Given the description of an element on the screen output the (x, y) to click on. 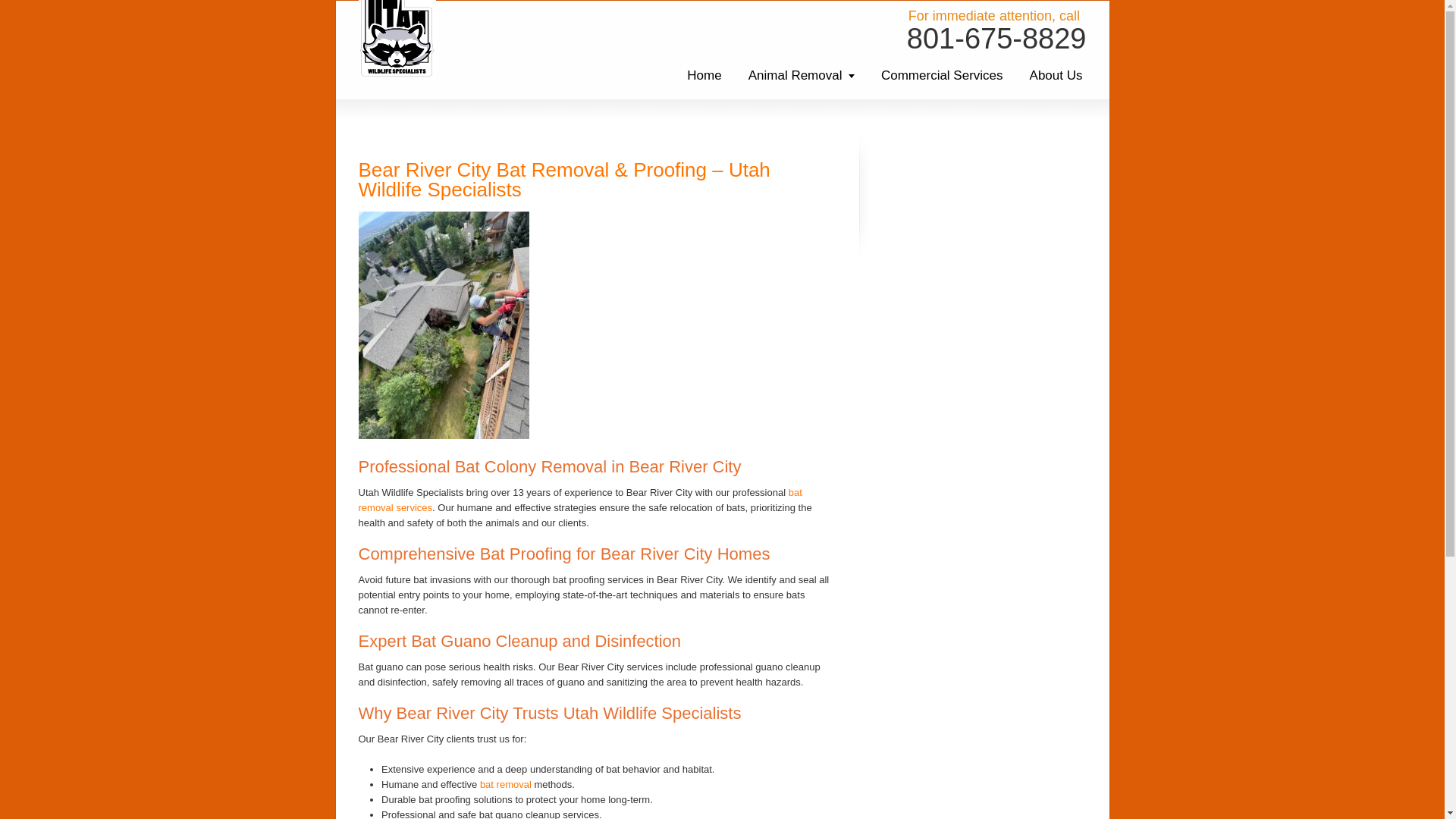
bat removal (580, 499)
About Us (1055, 75)
bat removal (505, 784)
bat removal (580, 499)
Animal Removal (801, 75)
Commercial Services (941, 75)
services (414, 507)
Home (703, 75)
services (414, 507)
